Given the description of an element on the screen output the (x, y) to click on. 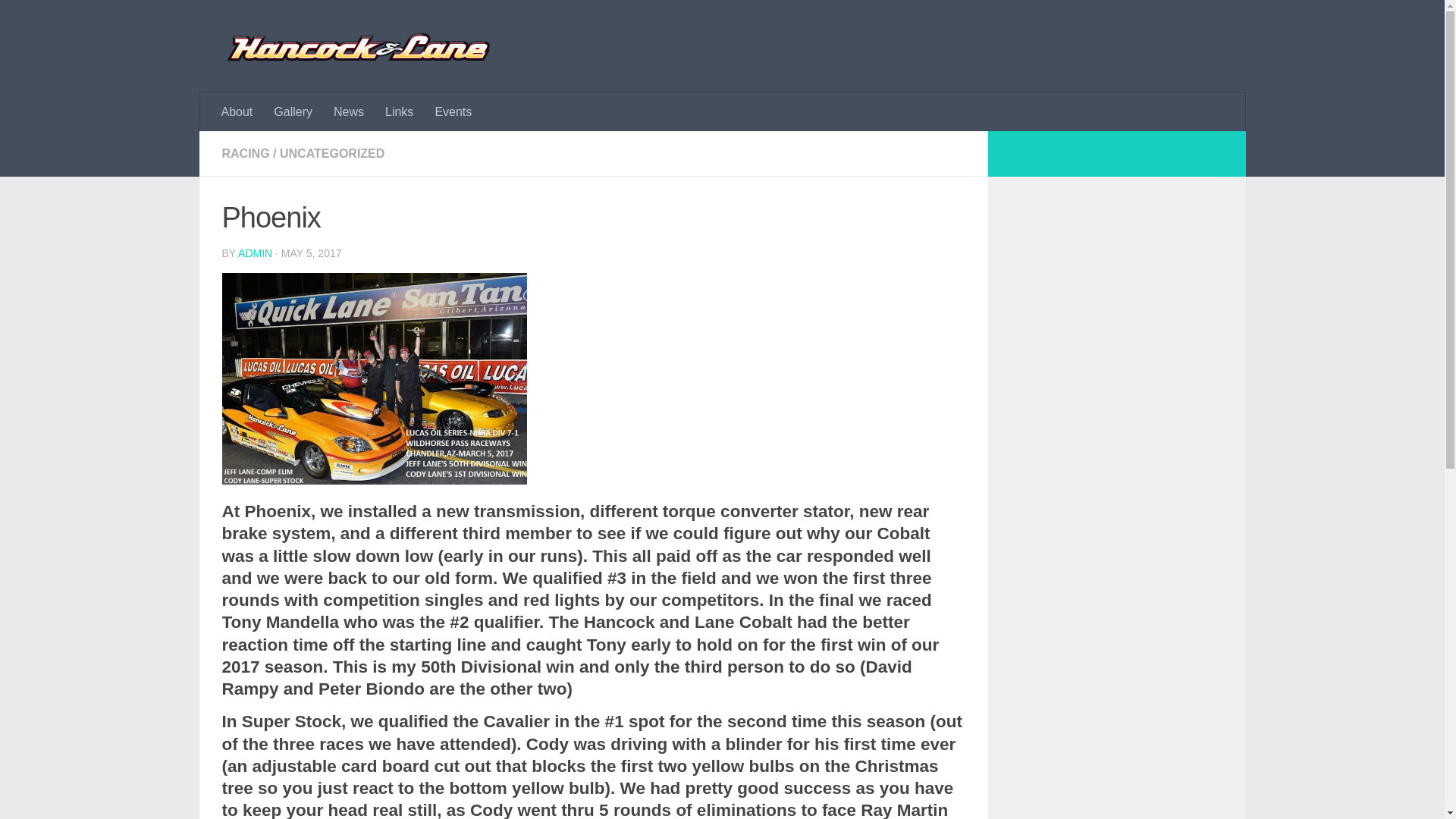
Posts by admin (255, 253)
About (237, 112)
News (348, 112)
Events (452, 112)
RACING (245, 153)
UNCATEGORIZED (331, 153)
Gallery (293, 112)
Links (398, 112)
ADMIN (255, 253)
